Given the description of an element on the screen output the (x, y) to click on. 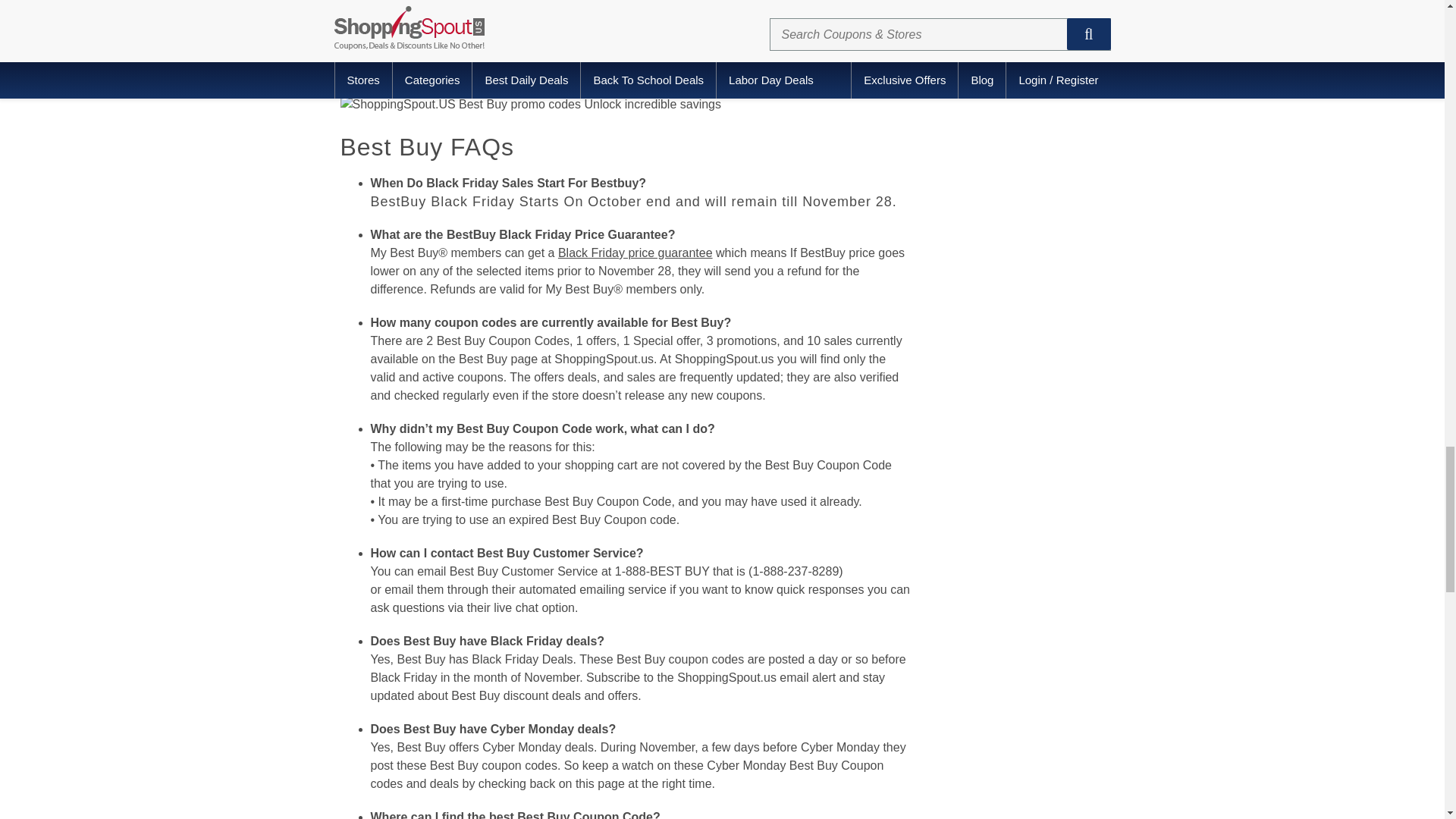
Black Friday price guarantee (635, 252)
Bulb Center Promo Codes (820, 67)
electronics (416, 0)
TomTom Coupon Code (650, 49)
